Given the description of an element on the screen output the (x, y) to click on. 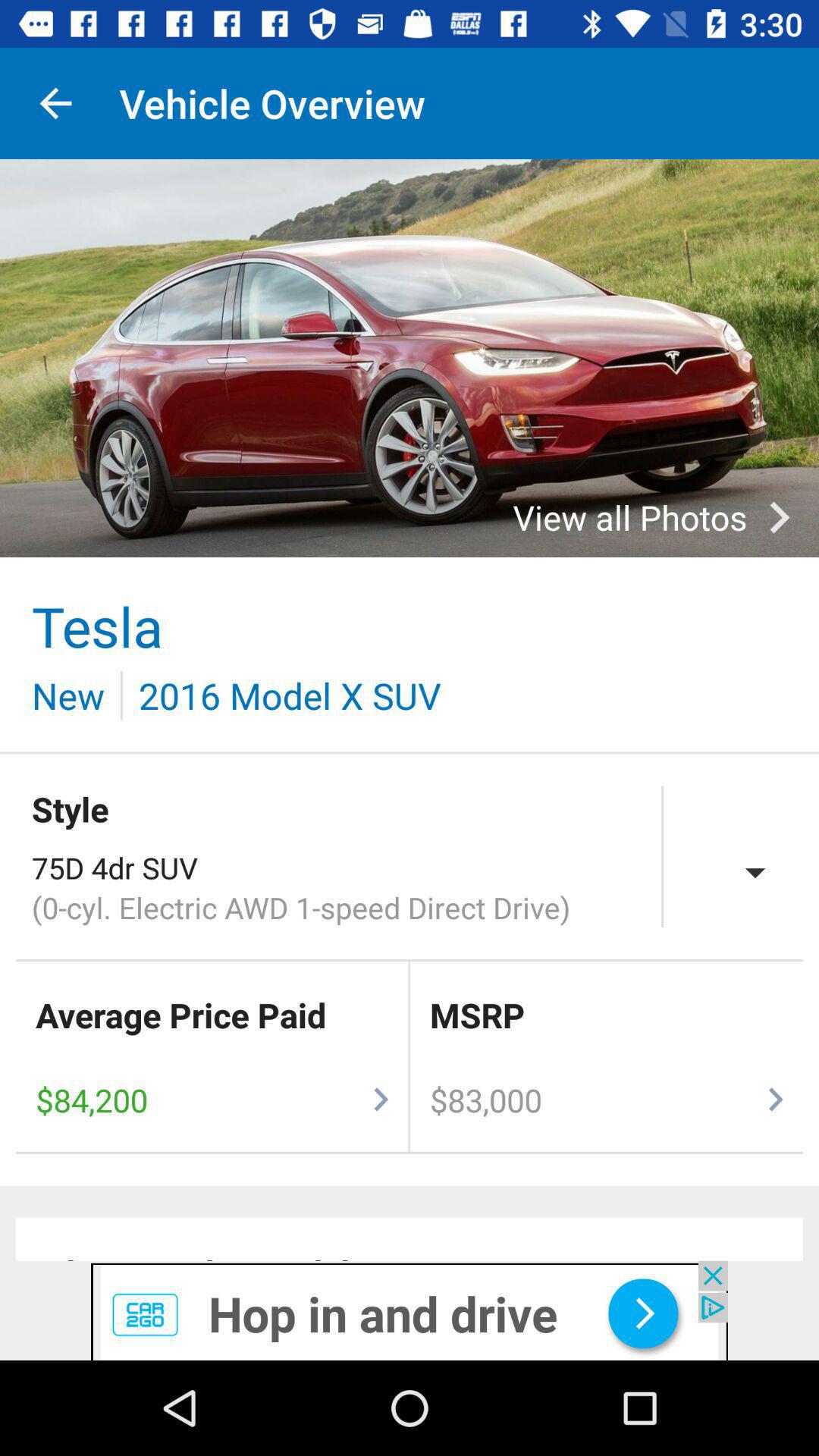
click on text on the first image at top (662, 517)
